Given the description of an element on the screen output the (x, y) to click on. 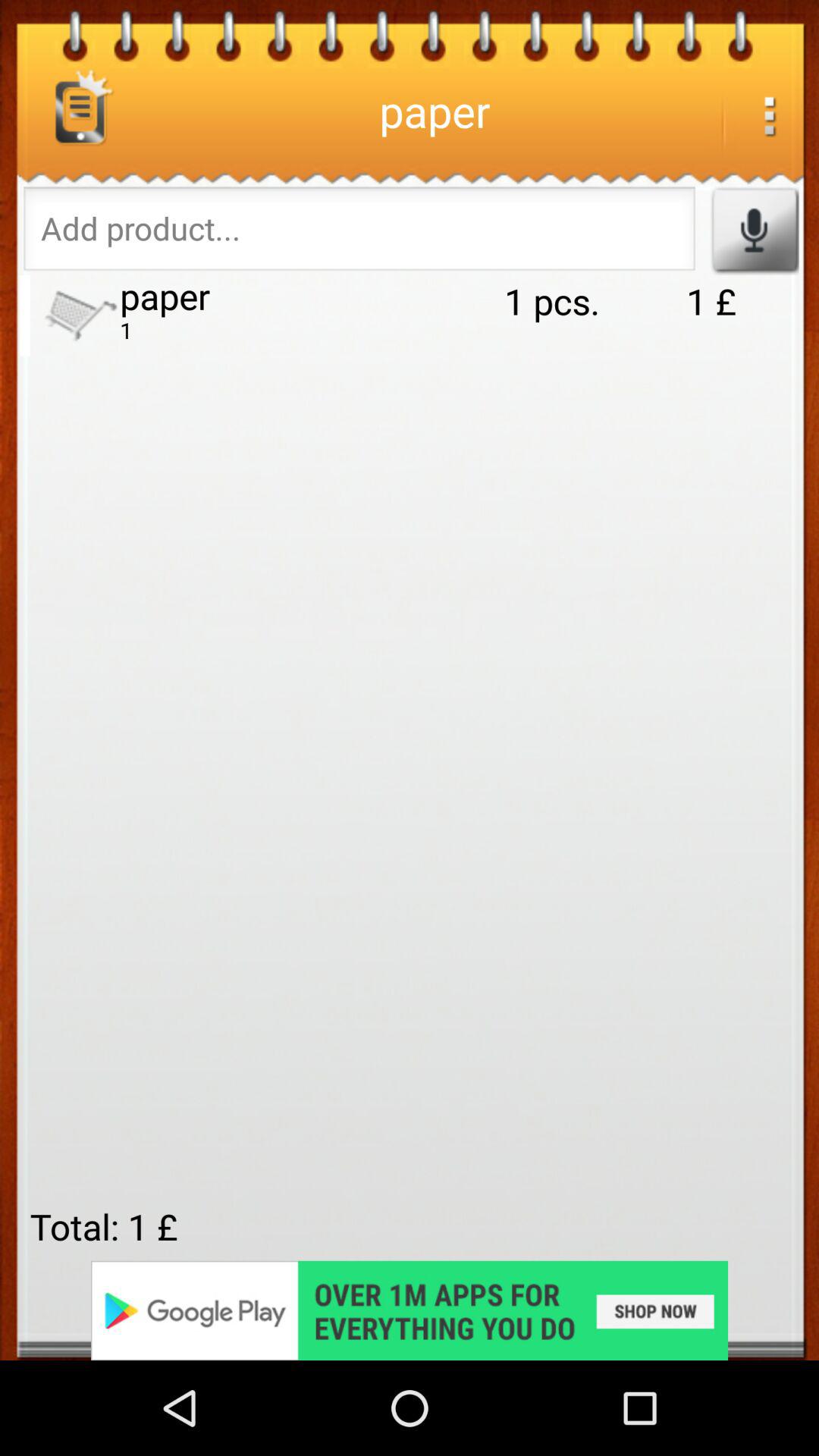
open advertisement (409, 1310)
